Given the description of an element on the screen output the (x, y) to click on. 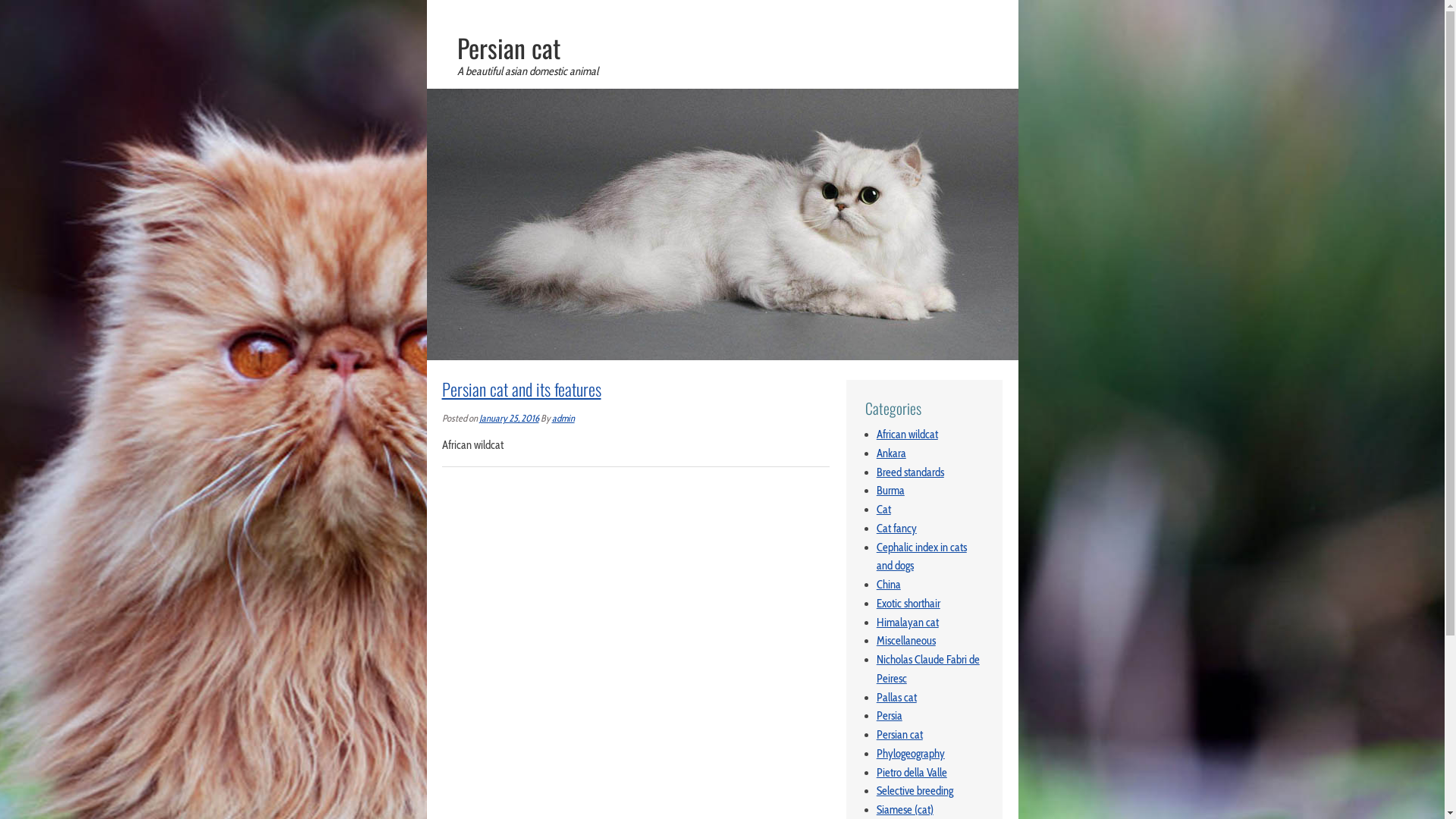
admin Element type: text (563, 417)
Himalayan cat Element type: text (907, 622)
Nicholas Claude Fabri de Peiresc Element type: text (927, 668)
Selective breeding Element type: text (914, 790)
Cephalic index in cats and dogs Element type: text (921, 556)
Phylogeography Element type: text (910, 753)
Persian cat and its features Element type: text (520, 388)
Cat Element type: text (883, 509)
Cat fancy Element type: text (896, 528)
Persian cat Element type: hover (721, 97)
Pallas cat Element type: text (896, 697)
Siamese (cat) Element type: text (904, 809)
January 25, 2016 Element type: text (509, 417)
Persia Element type: text (889, 715)
Miscellaneous Element type: text (905, 640)
Burma Element type: text (890, 490)
Breed standards Element type: text (910, 472)
Persian cat Element type: text (507, 47)
Ankara Element type: text (891, 453)
African wildcat Element type: text (907, 434)
Persian cat Element type: text (899, 734)
Pietro della Valle Element type: text (911, 772)
Exotic shorthair Element type: text (908, 603)
China Element type: text (888, 584)
